Given the description of an element on the screen output the (x, y) to click on. 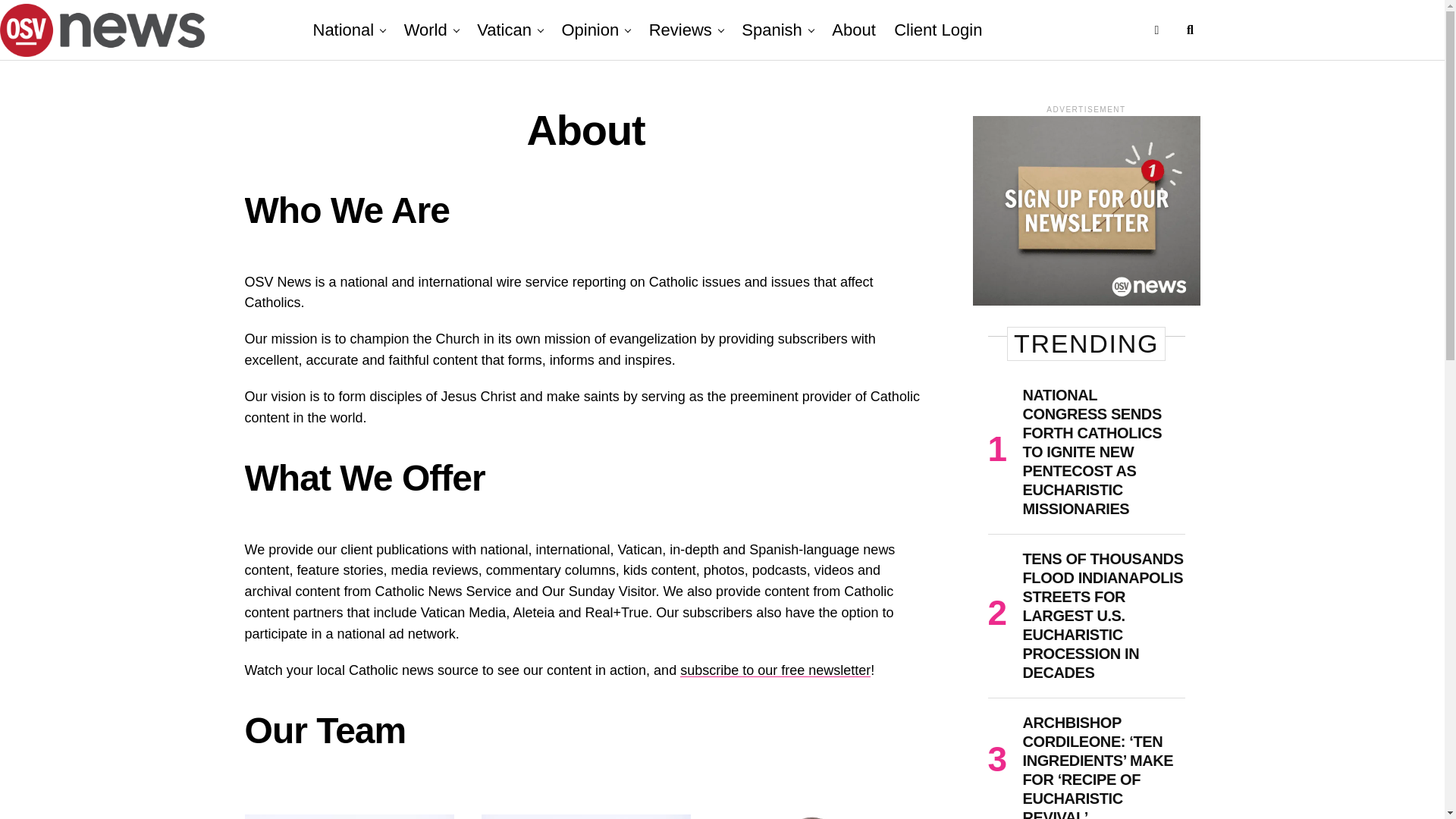
Reviews (680, 30)
Vatican (503, 30)
National (347, 30)
Opinion (589, 30)
World (425, 30)
